Given the description of an element on the screen output the (x, y) to click on. 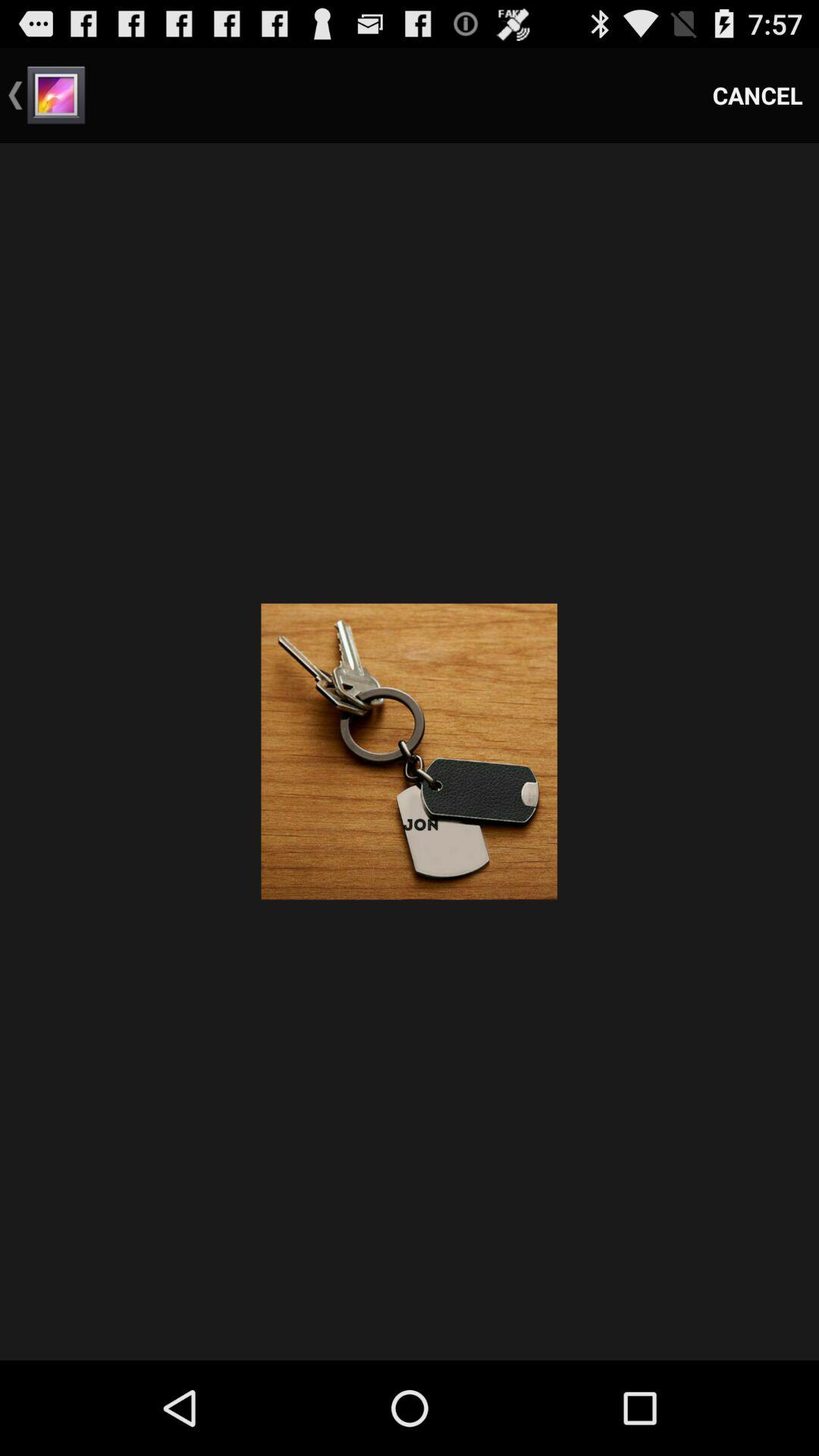
swipe until cancel (757, 95)
